Given the description of an element on the screen output the (x, y) to click on. 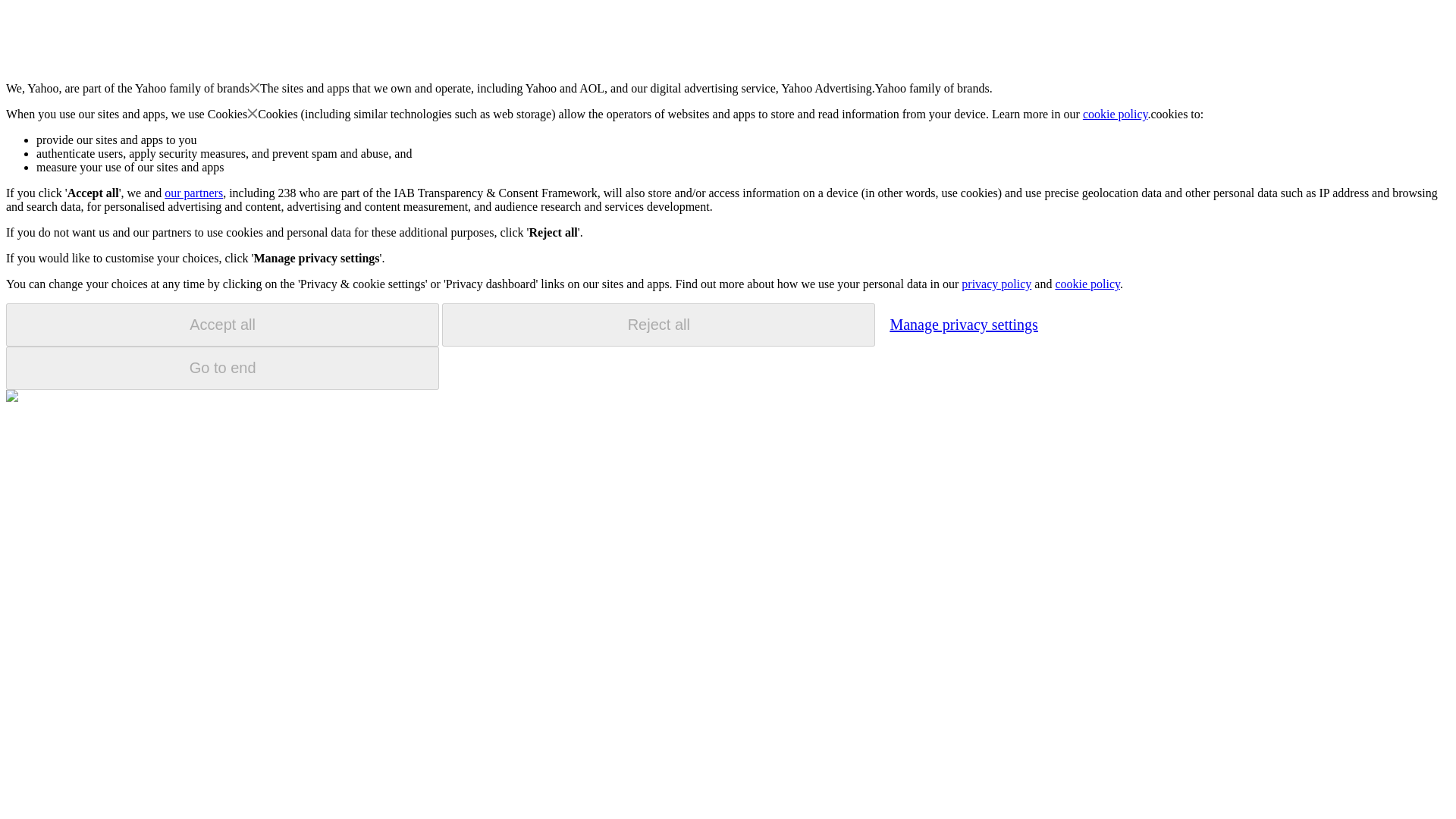
Go to end (222, 367)
cookie policy (1115, 113)
our partners (193, 192)
cookie policy (1086, 283)
Accept all (222, 324)
privacy policy (995, 283)
Reject all (658, 324)
Manage privacy settings (963, 323)
